Given the description of an element on the screen output the (x, y) to click on. 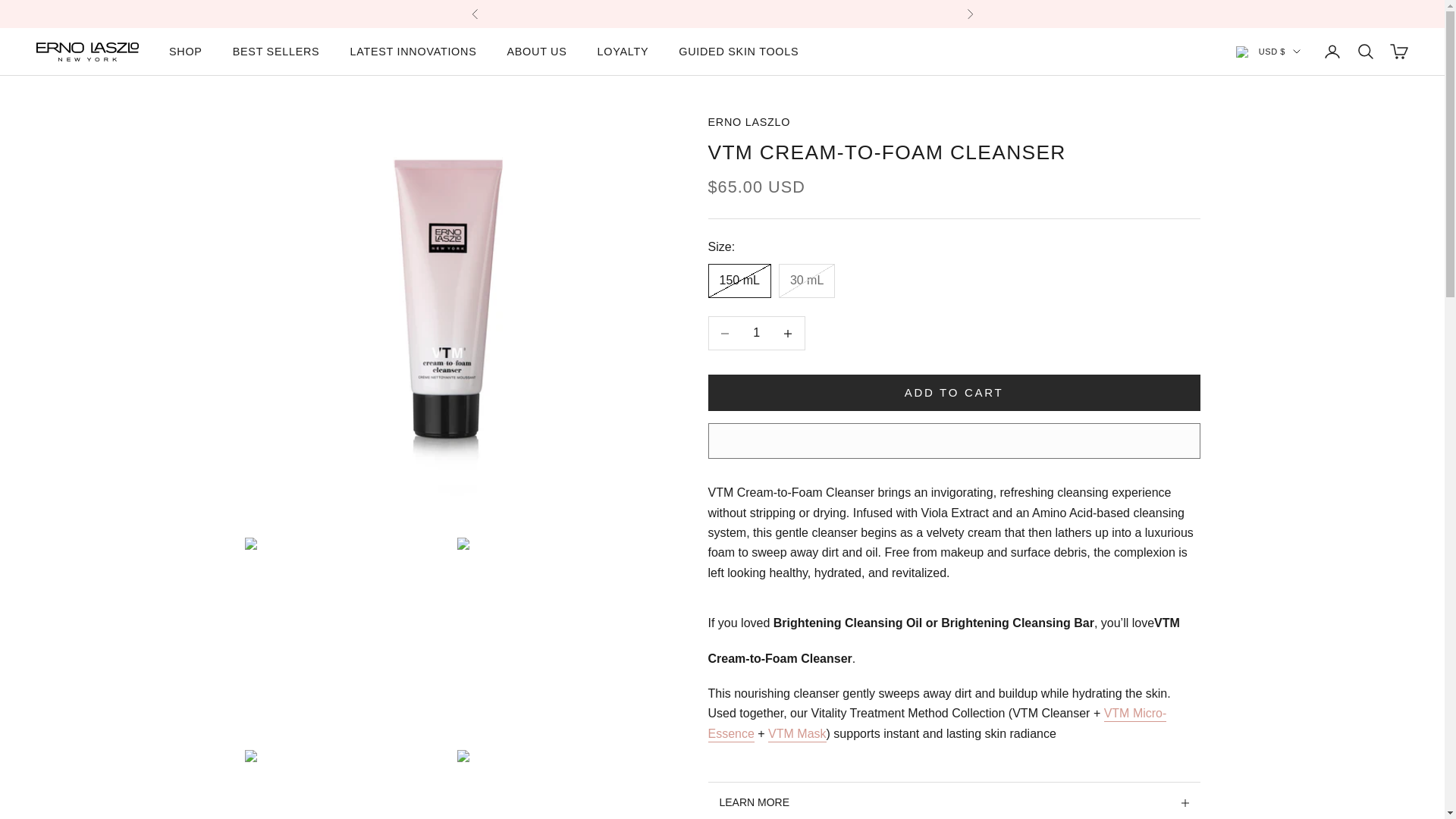
1 (756, 332)
Erno Laszlo (87, 51)
